Given the description of an element on the screen output the (x, y) to click on. 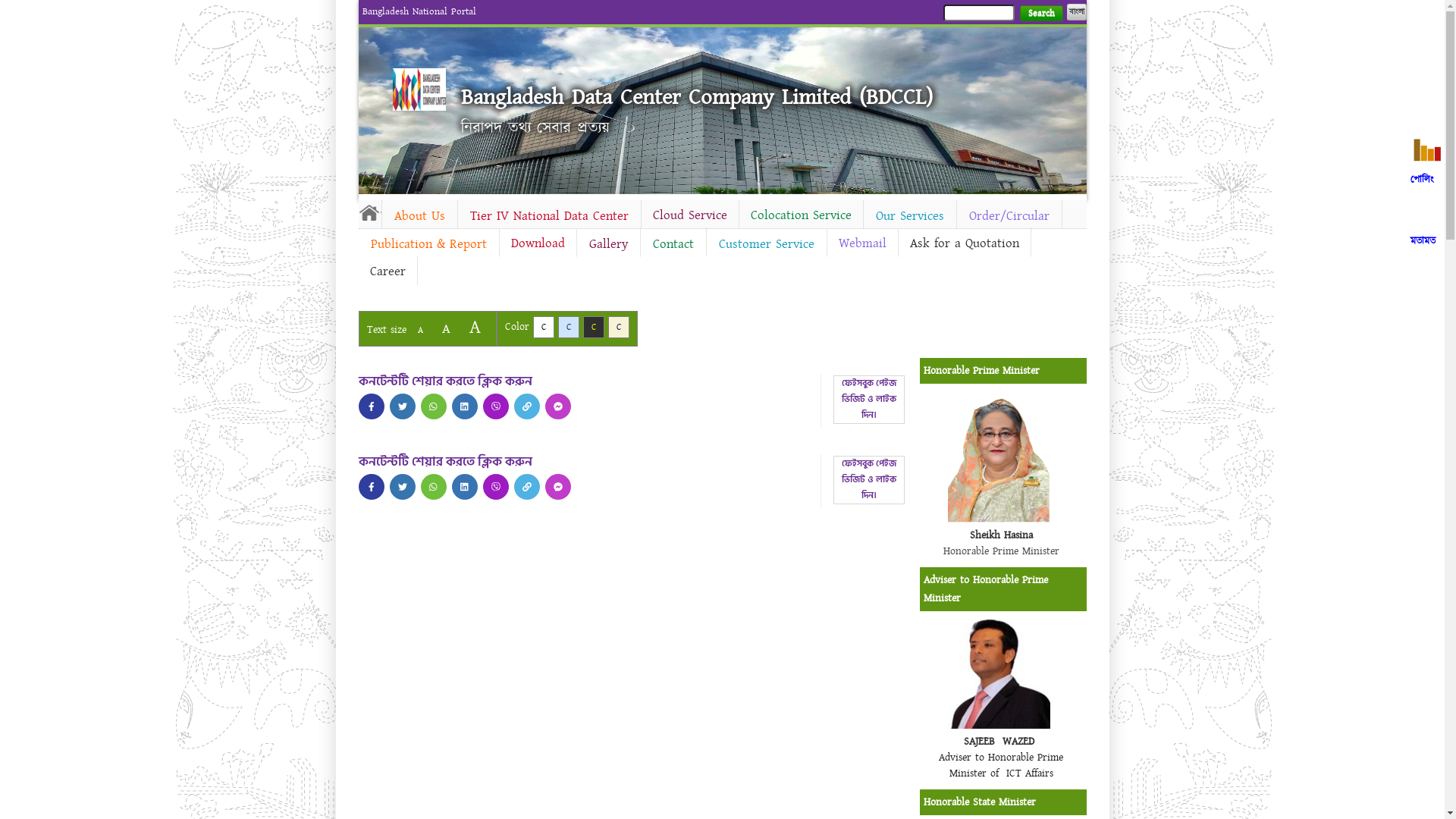
Home Element type: hover (368, 211)
Cloud Service Element type: text (689, 215)
A Element type: text (419, 330)
Ask for a Quotation Element type: text (963, 243)
C Element type: text (592, 327)
Tier IV National Data Center Element type: text (549, 216)
C Element type: text (618, 327)
Bangladesh National Portal Element type: text (419, 11)
Bangladesh Data Center Company Limited (BDCCL) Element type: text (696, 96)
A Element type: text (445, 328)
About Us Element type: text (419, 216)
Webmail Element type: text (861, 243)
Gallery Element type: text (607, 244)
Search Element type: text (1040, 13)
C Element type: text (568, 327)
Customer Service Element type: text (766, 244)
A Element type: text (474, 327)
Order/Circular Element type: text (1009, 216)
Publication & Report Element type: text (427, 244)
Our Services Element type: text (908, 216)
Career Element type: text (386, 271)
Contact Element type: text (672, 244)
Colocation Service Element type: text (800, 215)
Home Element type: hover (418, 89)
C Element type: text (542, 327)
Download Element type: text (536, 243)
